Given the description of an element on the screen output the (x, y) to click on. 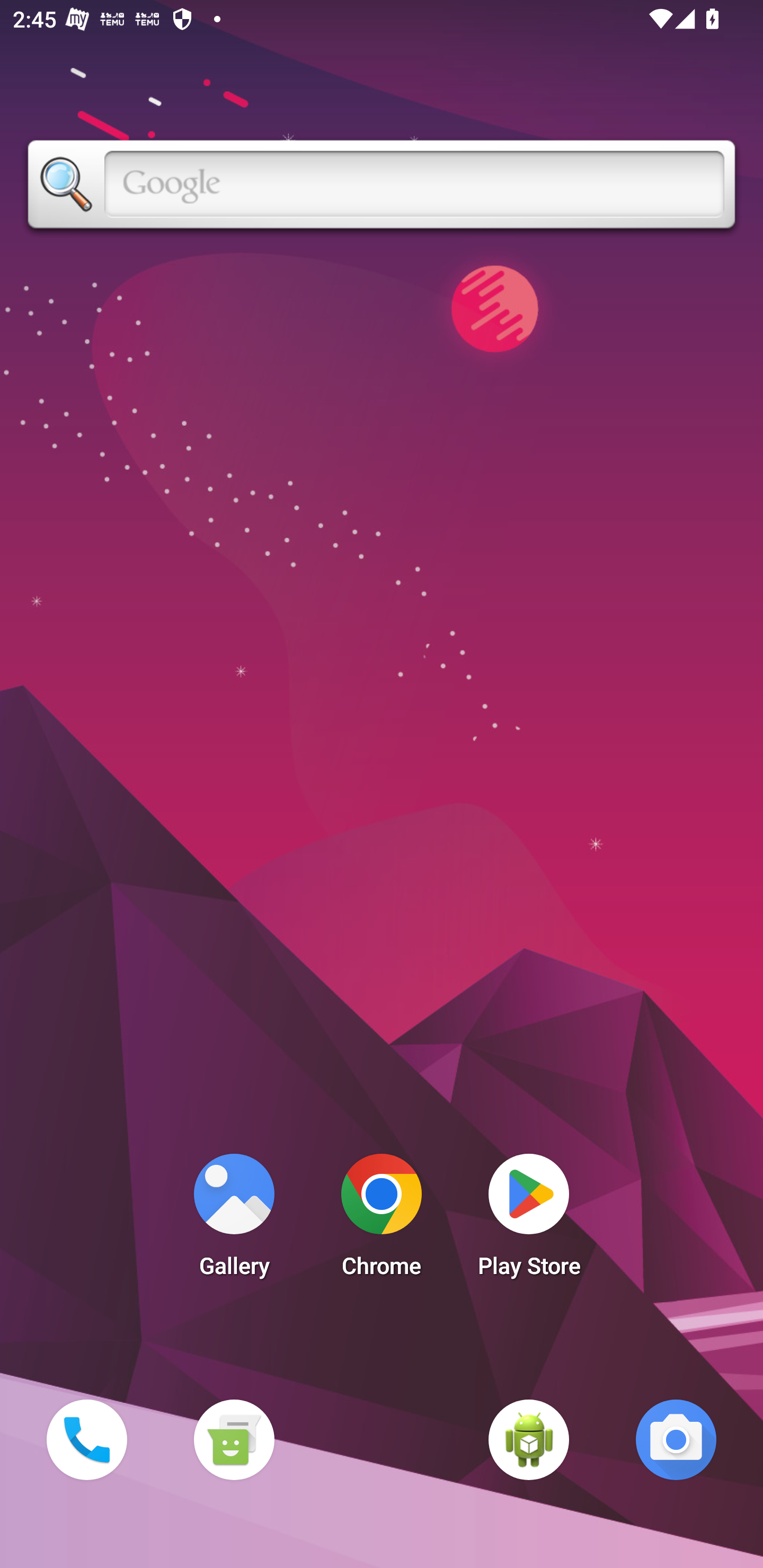
Gallery (233, 1220)
Chrome (381, 1220)
Play Store (528, 1220)
Phone (86, 1439)
Messaging (233, 1439)
WebView Browser Tester (528, 1439)
Camera (676, 1439)
